Given the description of an element on the screen output the (x, y) to click on. 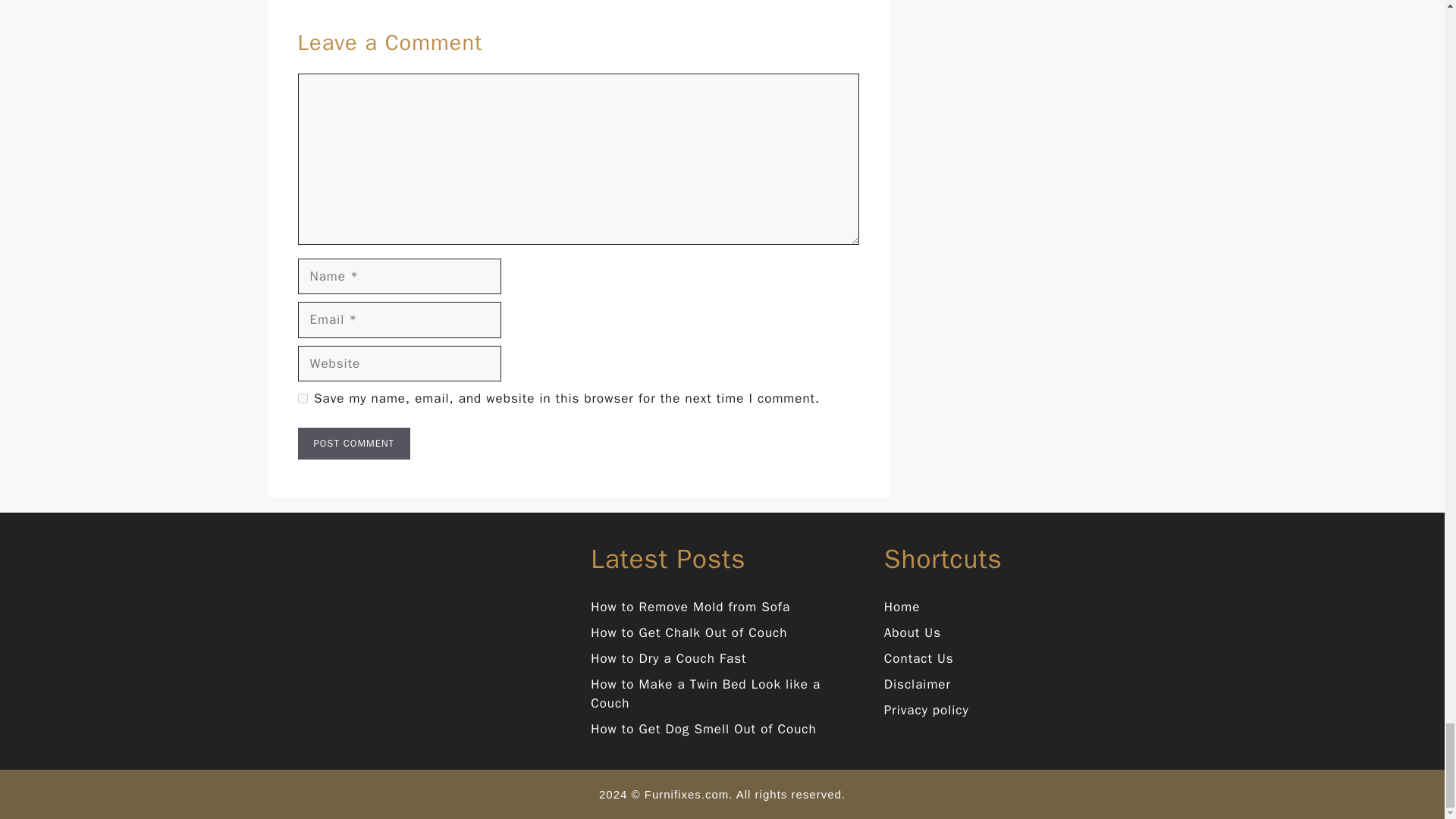
yes (302, 398)
Contact Us (918, 658)
Home (901, 606)
How to Get Dog Smell Out of Couch (703, 729)
Disclaimer (916, 684)
About Us (911, 632)
How to Get Chalk Out of Couch (689, 632)
How to Dry a Couch Fast (668, 658)
Post Comment (353, 443)
How to Remove Mold from Sofa (690, 606)
Privacy policy (926, 709)
Post Comment (353, 443)
How to Make a Twin Bed Look like a Couch (706, 693)
